Given the description of an element on the screen output the (x, y) to click on. 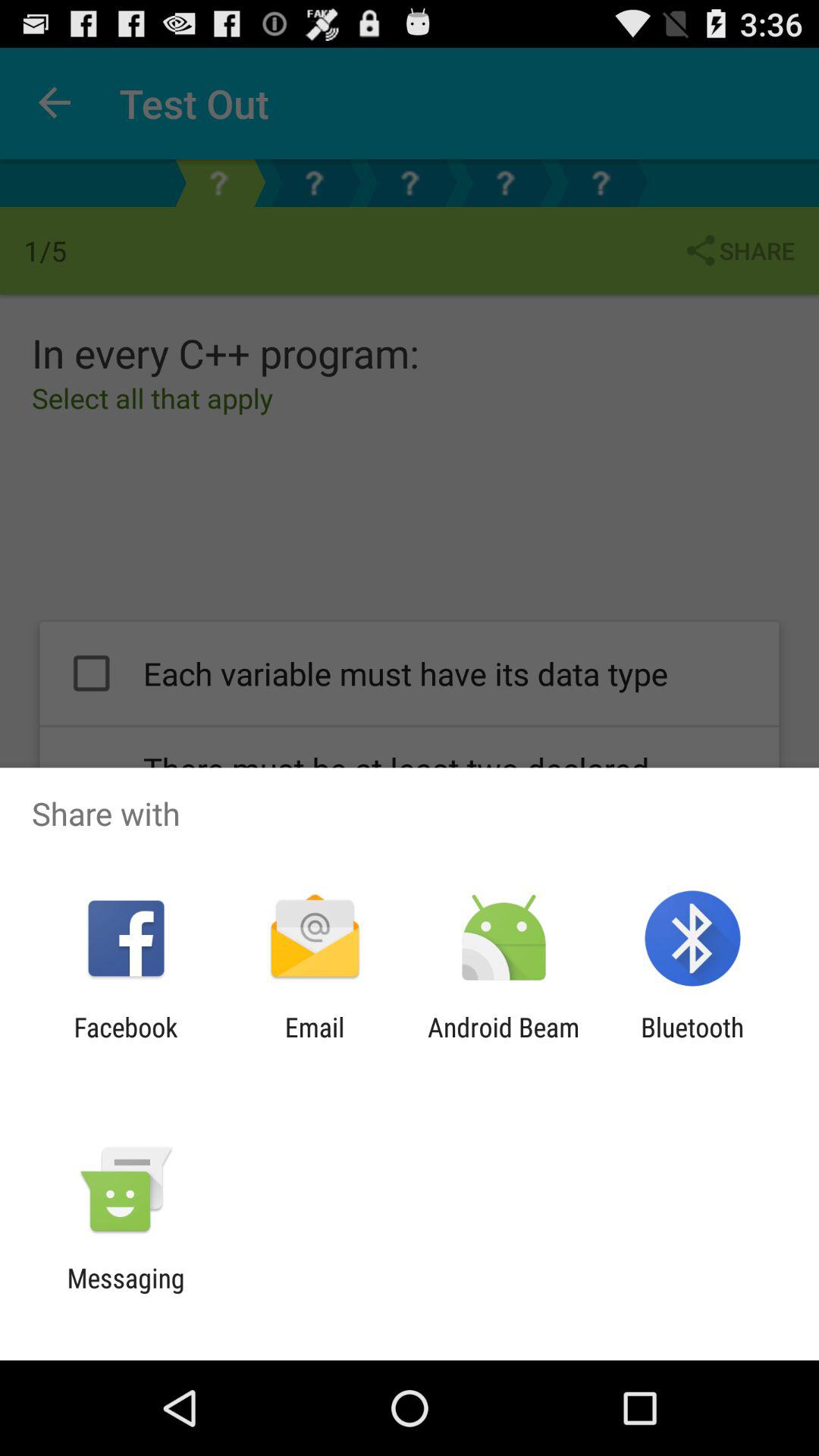
click item next to bluetooth app (503, 1042)
